Given the description of an element on the screen output the (x, y) to click on. 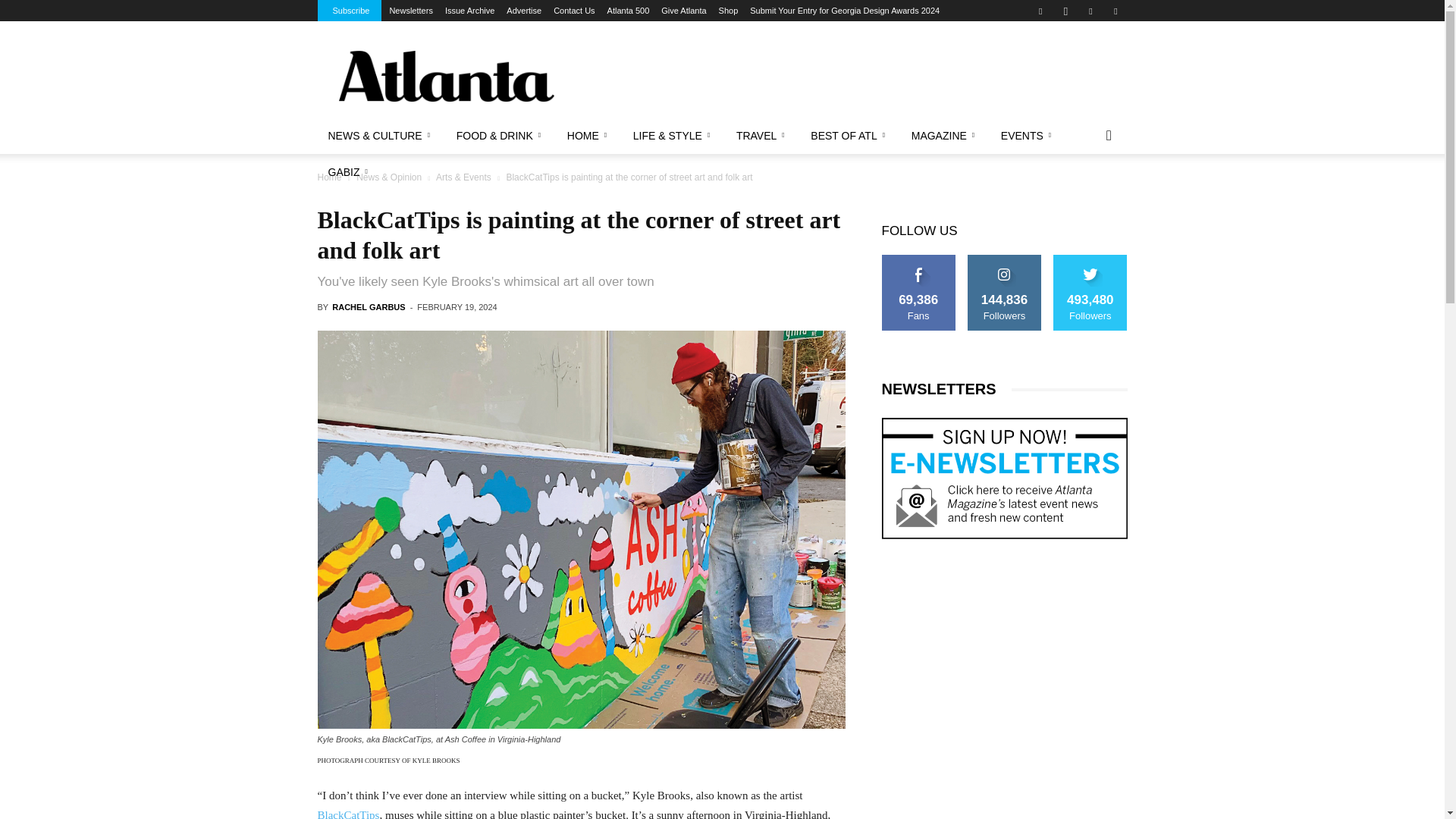
Twitter (1114, 10)
Linkedin (1090, 10)
Posts by Rachel Garbus (367, 307)
Instagram (1065, 10)
Facebook (1040, 10)
Atlanta Magazine (445, 75)
